Given the description of an element on the screen output the (x, y) to click on. 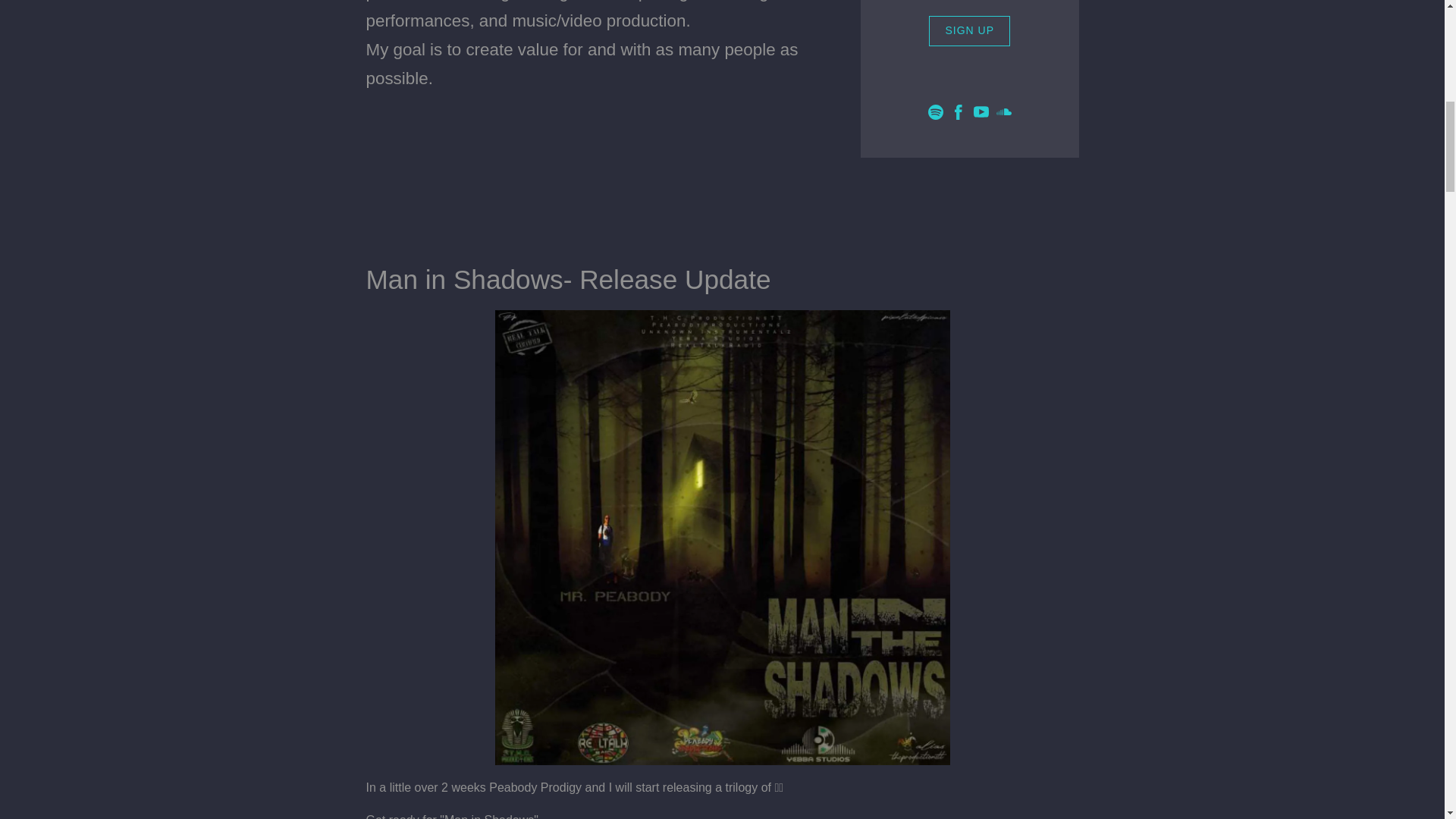
SIGN UP (969, 30)
Man in Shadows- Release Update (567, 279)
